Given the description of an element on the screen output the (x, y) to click on. 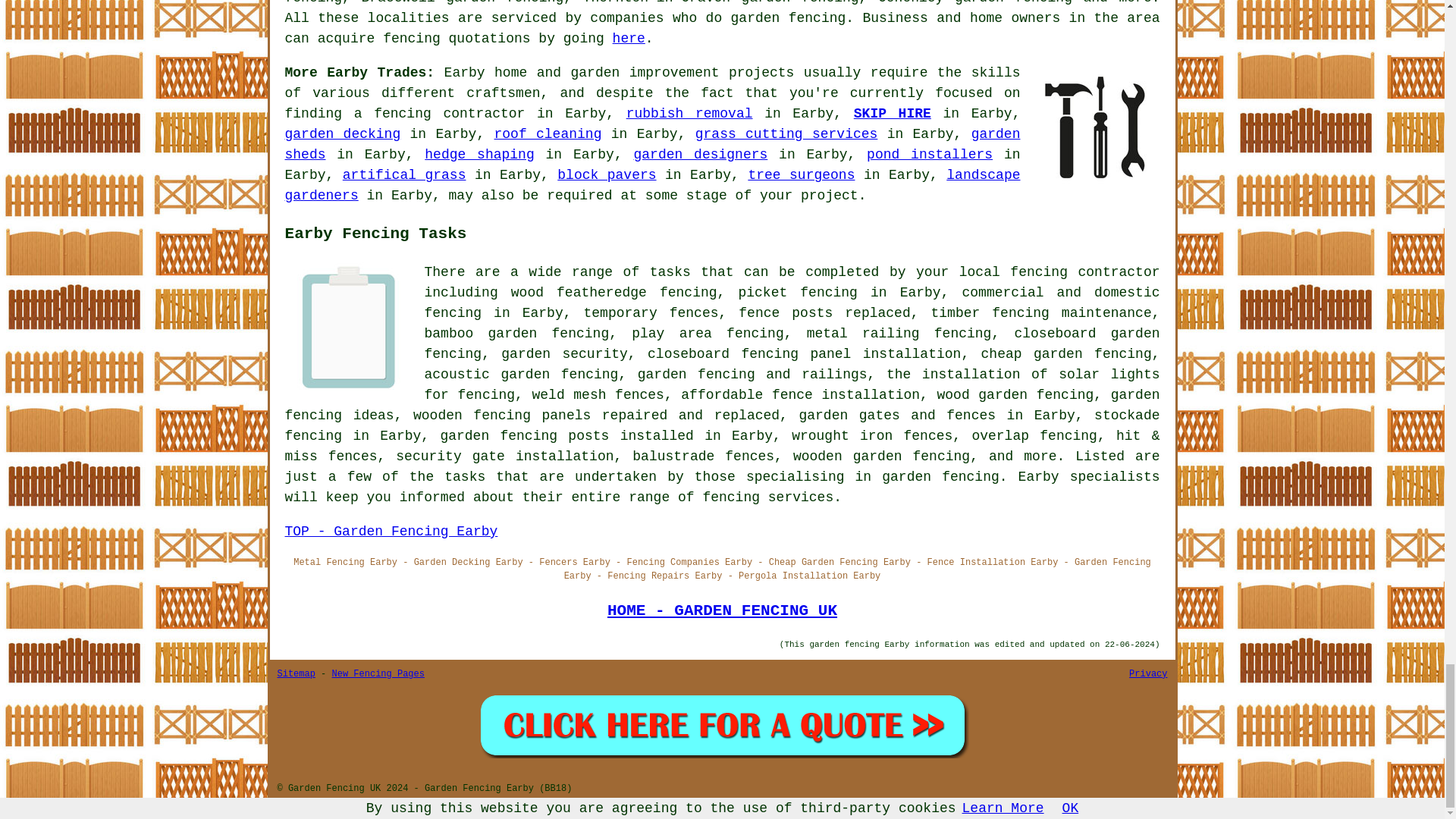
More Earby Tradesmen (1095, 127)
fencing (411, 38)
fencing (817, 17)
